Given the description of an element on the screen output the (x, y) to click on. 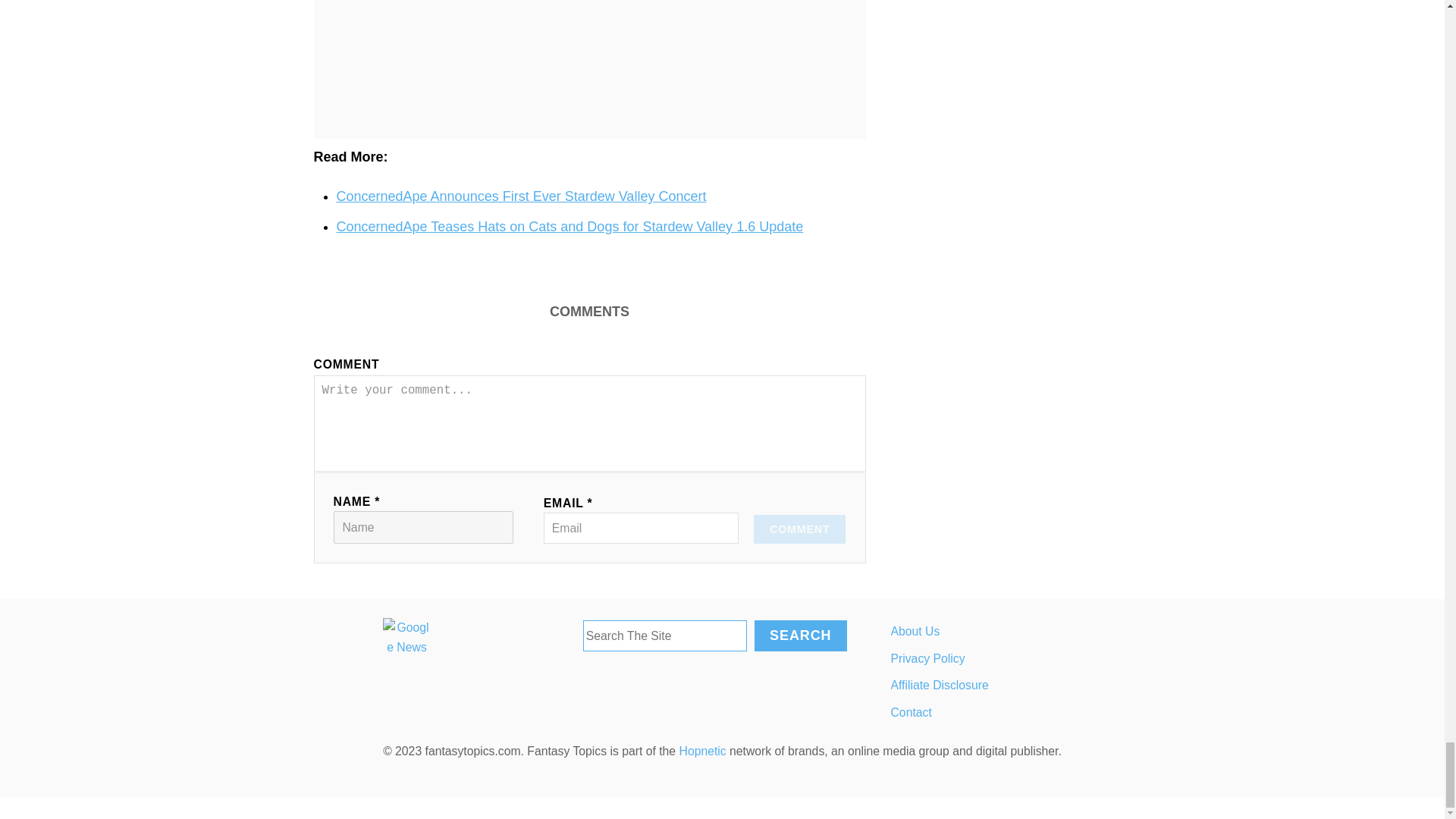
Contact (1021, 712)
Hopnetic (702, 750)
About Us (1021, 631)
Affiliate Disclosure (1021, 685)
ConcernedApe Announces First Ever Stardew Valley Concert (521, 196)
Privacy Policy (1021, 658)
COMMENT (799, 529)
SEARCH (799, 635)
